Given the description of an element on the screen output the (x, y) to click on. 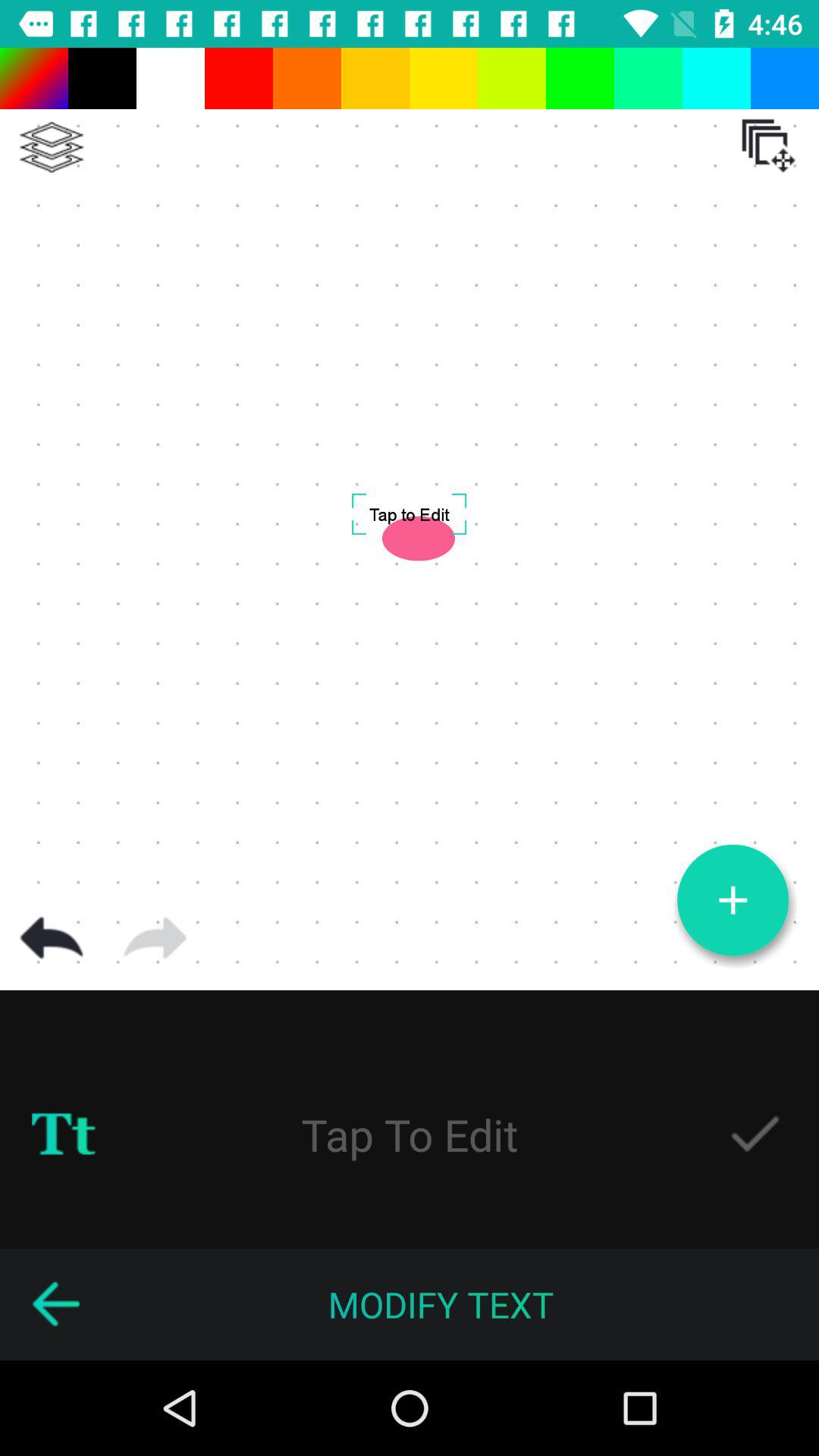
click to edi start (409, 1134)
